Given the description of an element on the screen output the (x, y) to click on. 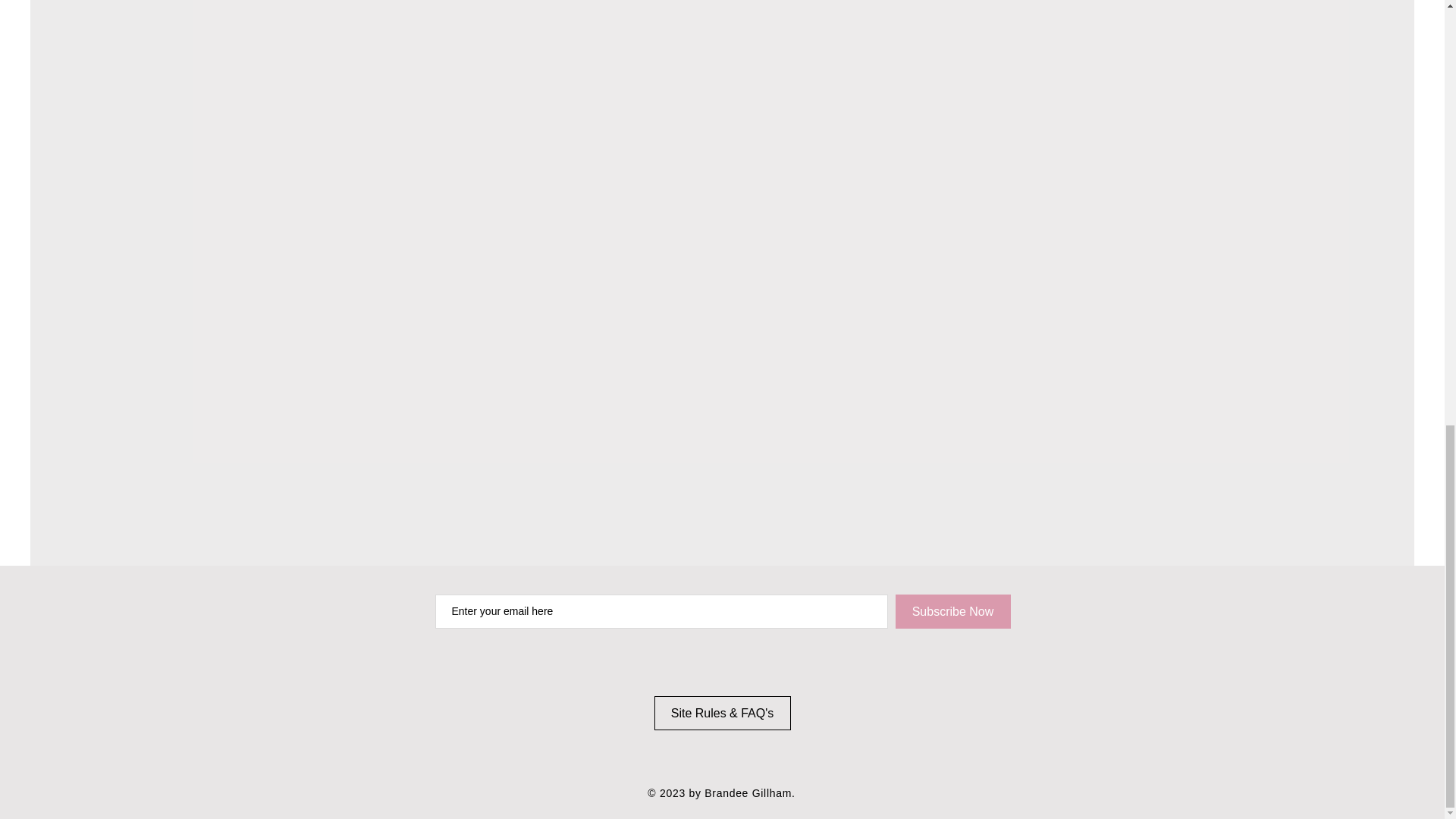
Subscribe Now (952, 611)
